Given the description of an element on the screen output the (x, y) to click on. 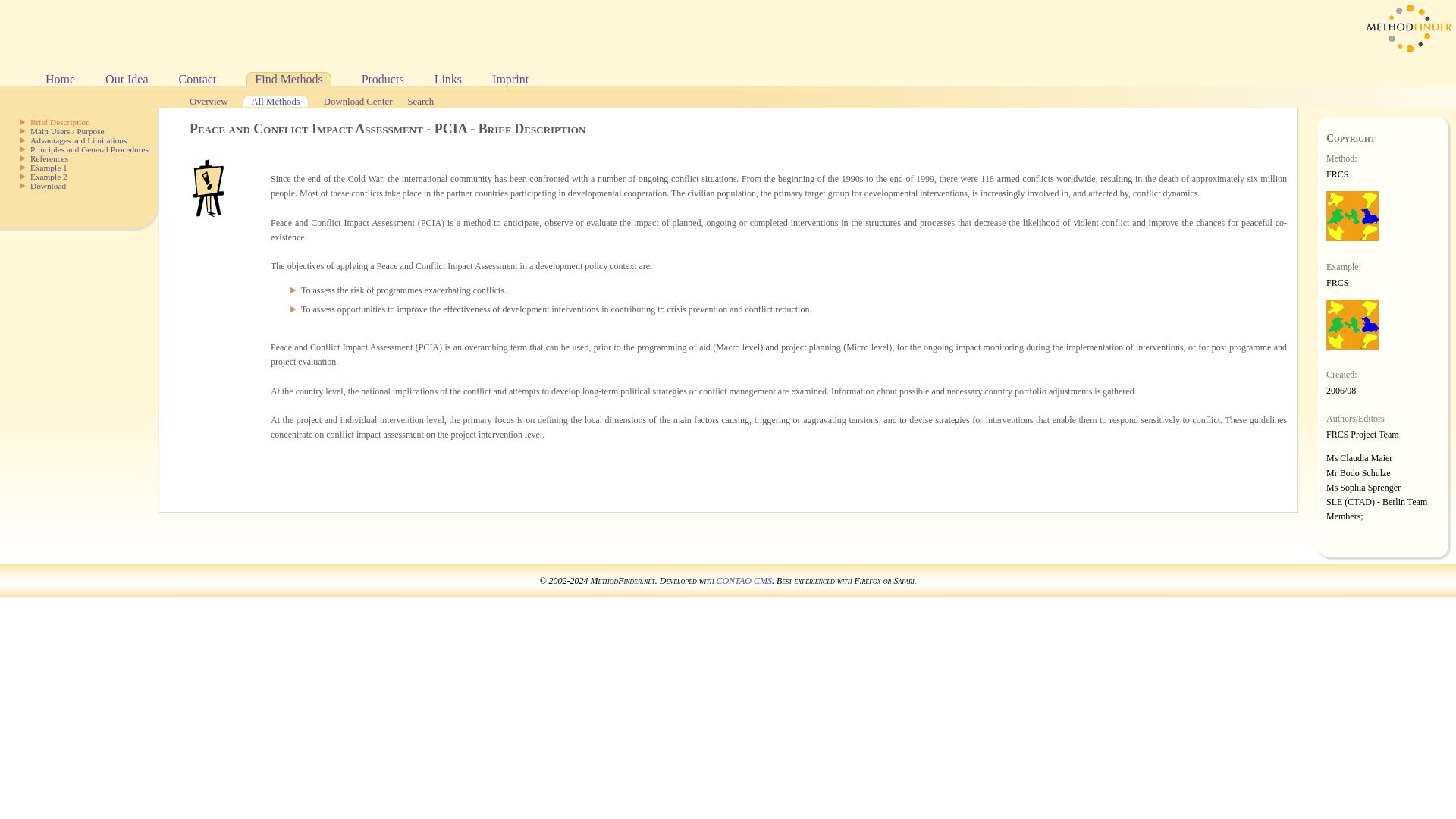
Principles and General Procedures (89, 148)
Advantages and Limitations (78, 139)
All Methods (275, 101)
Advantages and Limitations (78, 139)
Ms Claudia Maier (1358, 457)
References (49, 157)
Links to other interesting web pages (447, 78)
References (49, 157)
Download Methods and Examples (47, 185)
Links (447, 78)
Example (48, 175)
Search (420, 101)
MethodFinder's Practitioner's Guide (60, 78)
Products (382, 78)
CONTAO CMS (743, 580)
